Given the description of an element on the screen output the (x, y) to click on. 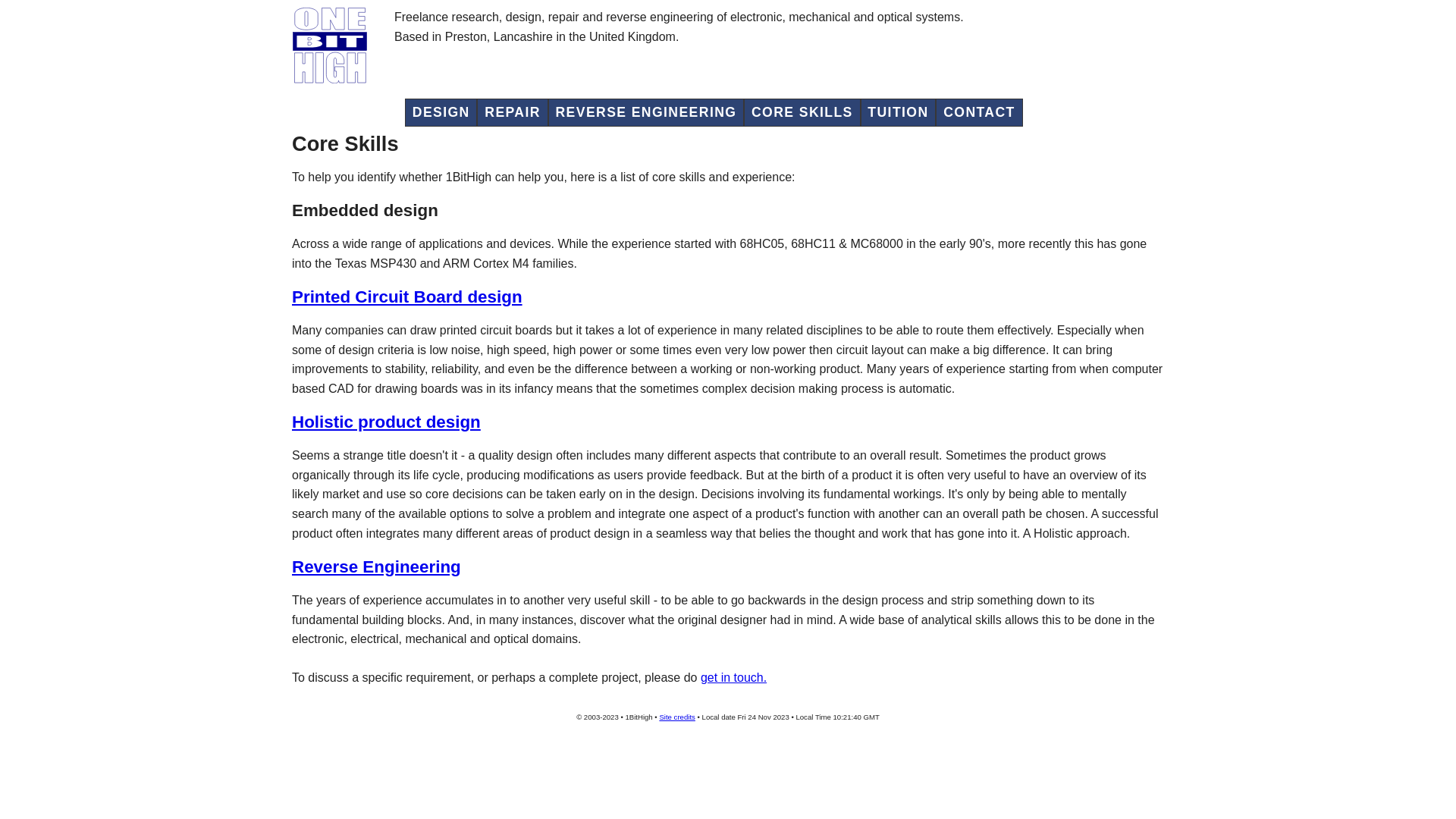
get in touch. Element type: text (733, 677)
Printed Circuit Board design Element type: text (727, 327)
CORE SKILLS Element type: text (801, 112)
REPAIR Element type: text (511, 112)
REVERSE ENGINEERING Element type: text (646, 112)
Site credits Element type: text (676, 716)
Reverse Engineering Element type: text (727, 597)
CONTACT Element type: text (978, 112)
TUITION Element type: text (898, 112)
Holistic product design Element type: text (727, 452)
DESIGN Element type: text (440, 112)
